Given the description of an element on the screen output the (x, y) to click on. 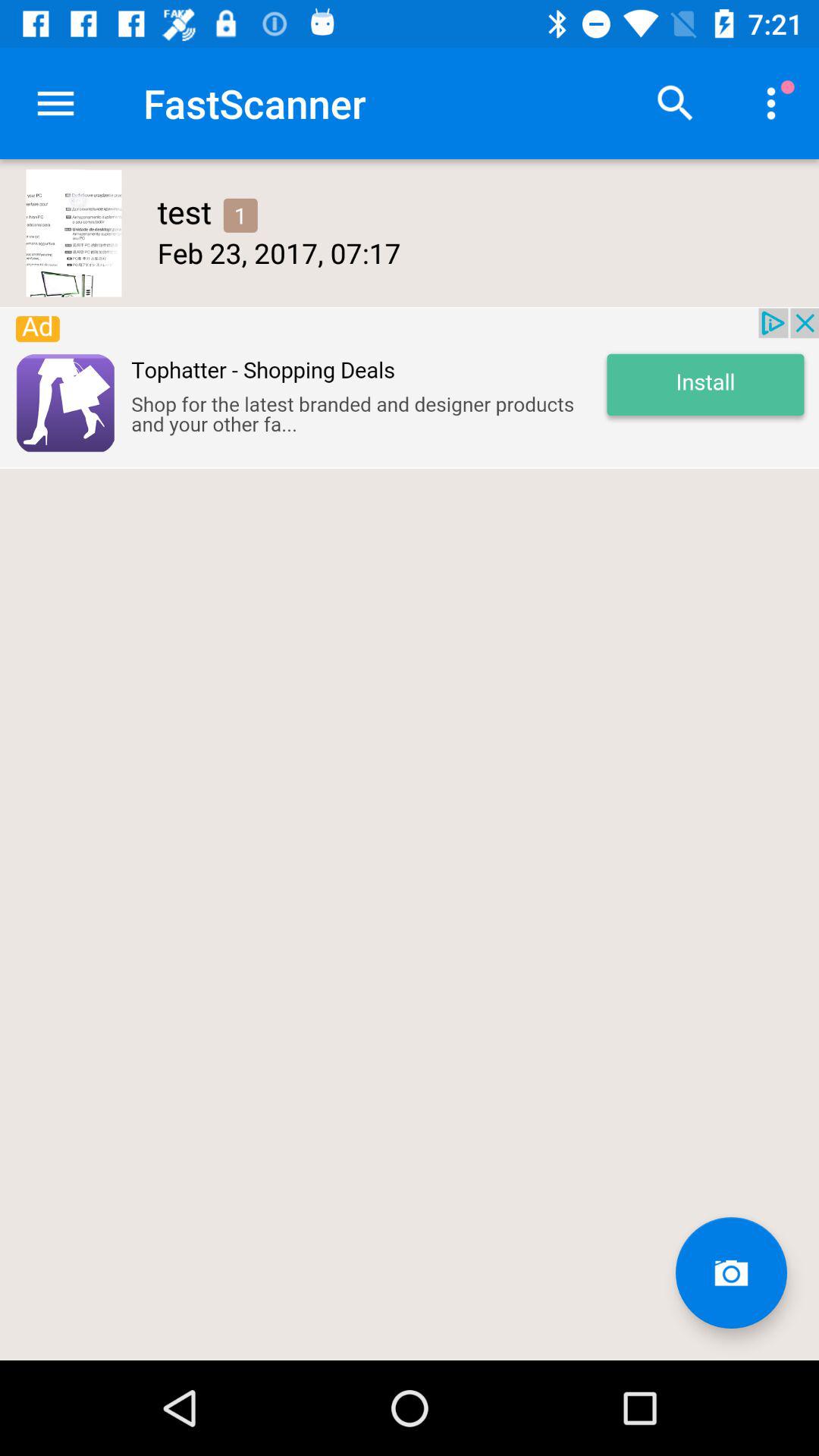
install page (409, 387)
